Given the description of an element on the screen output the (x, y) to click on. 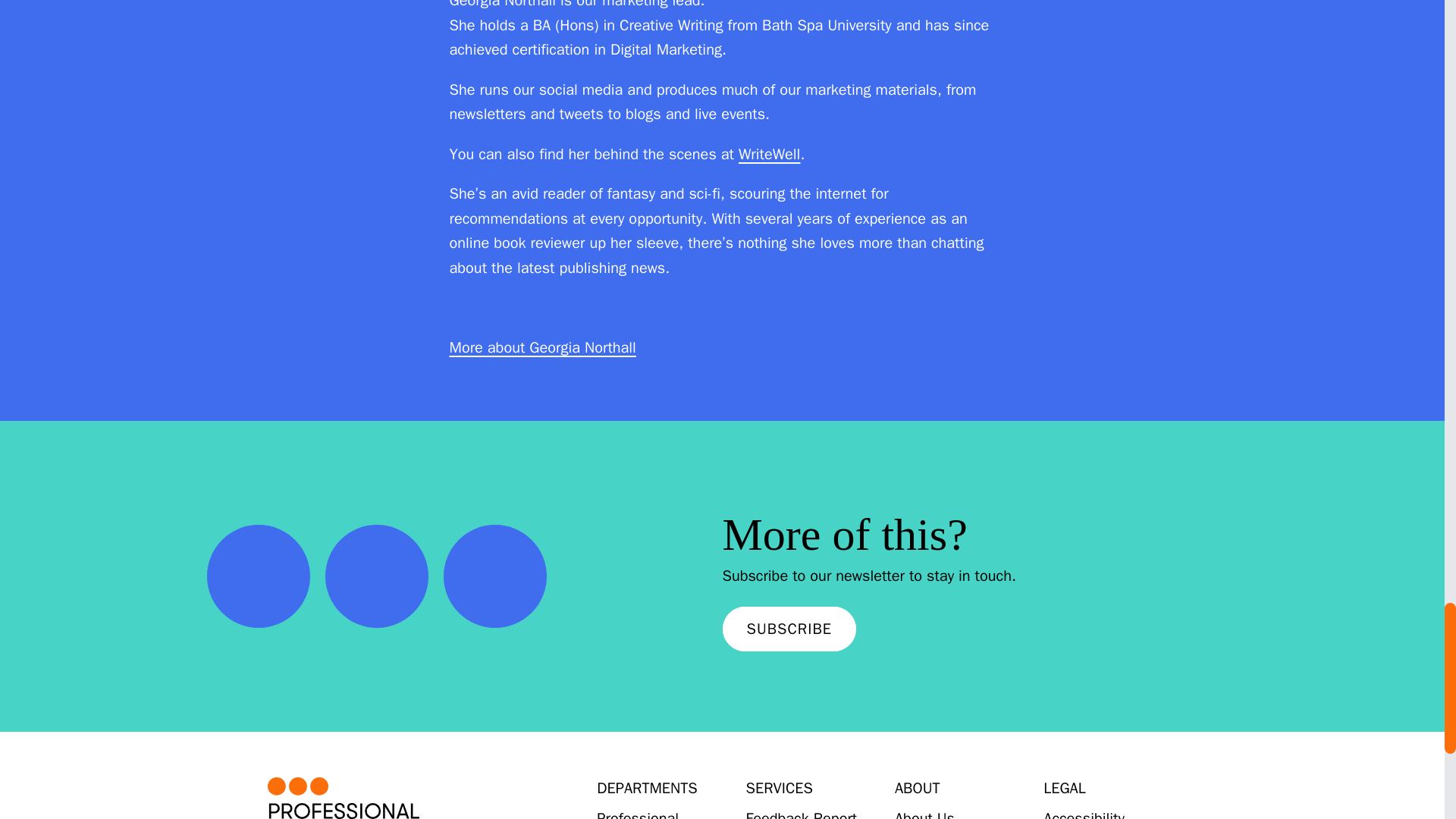
Professional Writing Academy - Setting the world to write (385, 798)
